Given the description of an element on the screen output the (x, y) to click on. 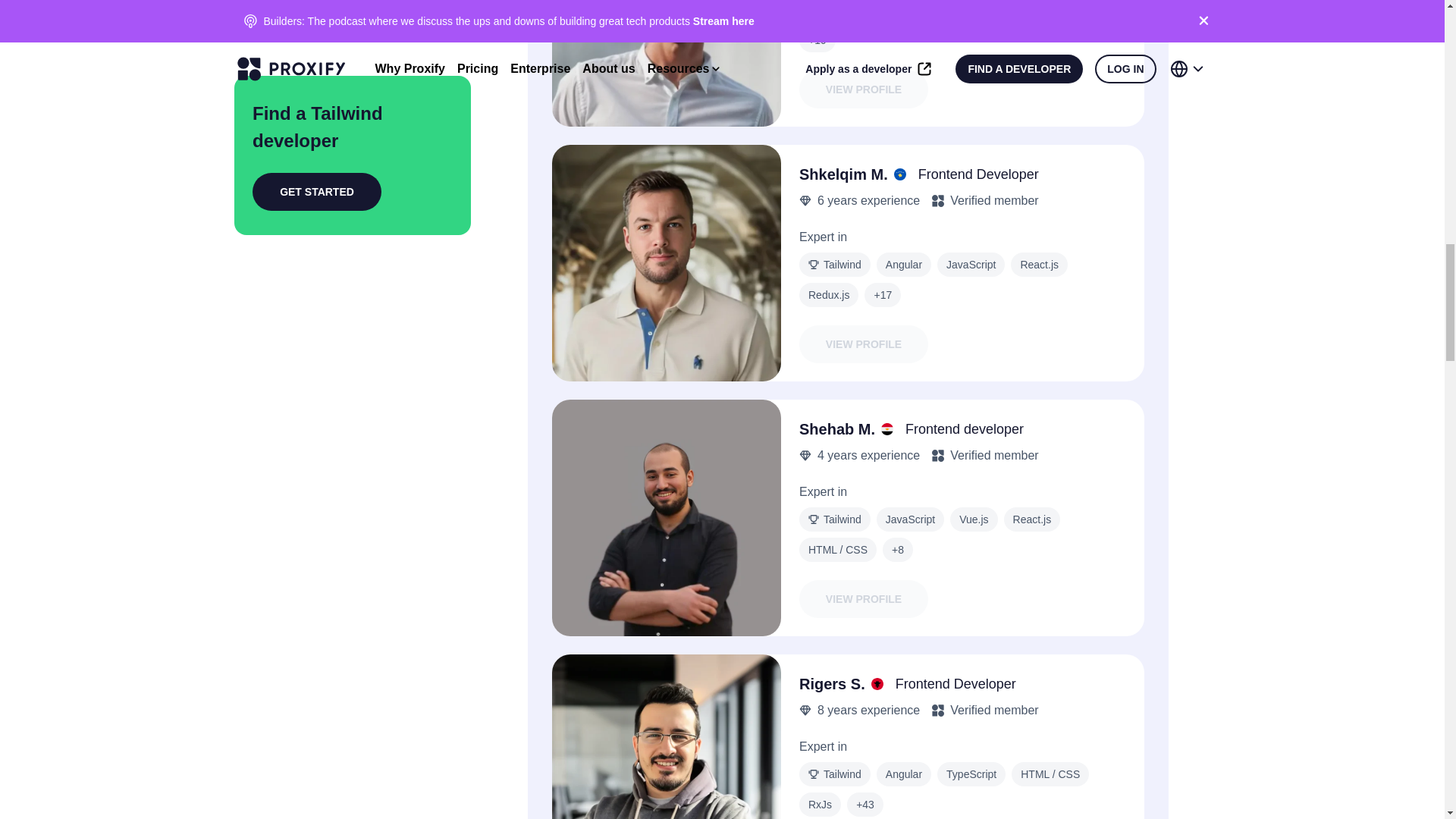
VIEW PROFILE (863, 598)
VIEW PROFILE (863, 344)
VIEW PROFILE (863, 89)
